Given the description of an element on the screen output the (x, y) to click on. 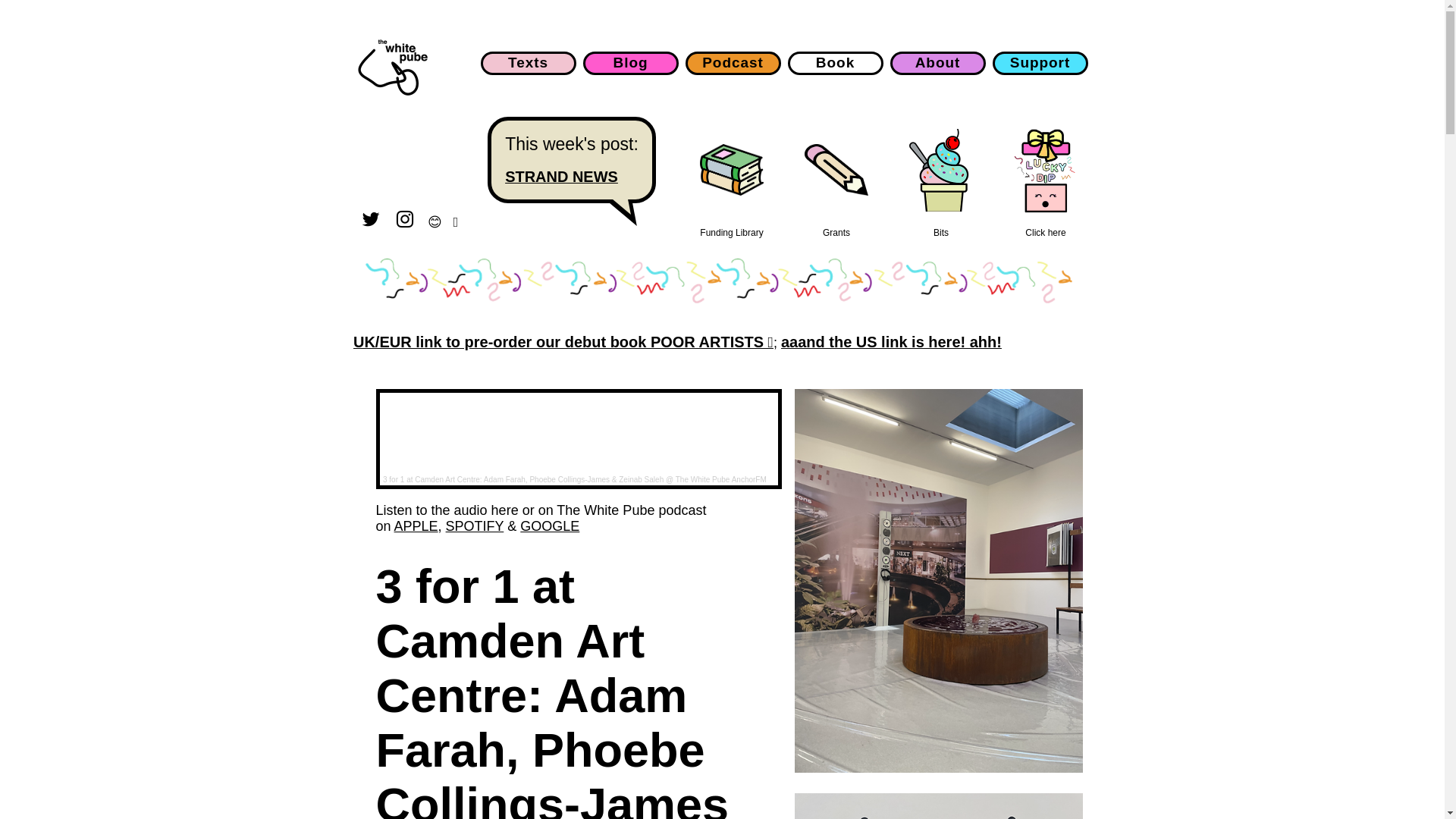
APPLE (416, 525)
STRAND NEWS (572, 176)
aaand the US link is here! ahh! (890, 341)
SPOTIFY (474, 525)
About (936, 62)
Texts (527, 62)
GOOGLE (549, 525)
Book (835, 62)
Support (1040, 62)
Podcast (732, 62)
Blog (631, 62)
The White Pube (574, 479)
The White Pube (391, 78)
